Given the description of an element on the screen output the (x, y) to click on. 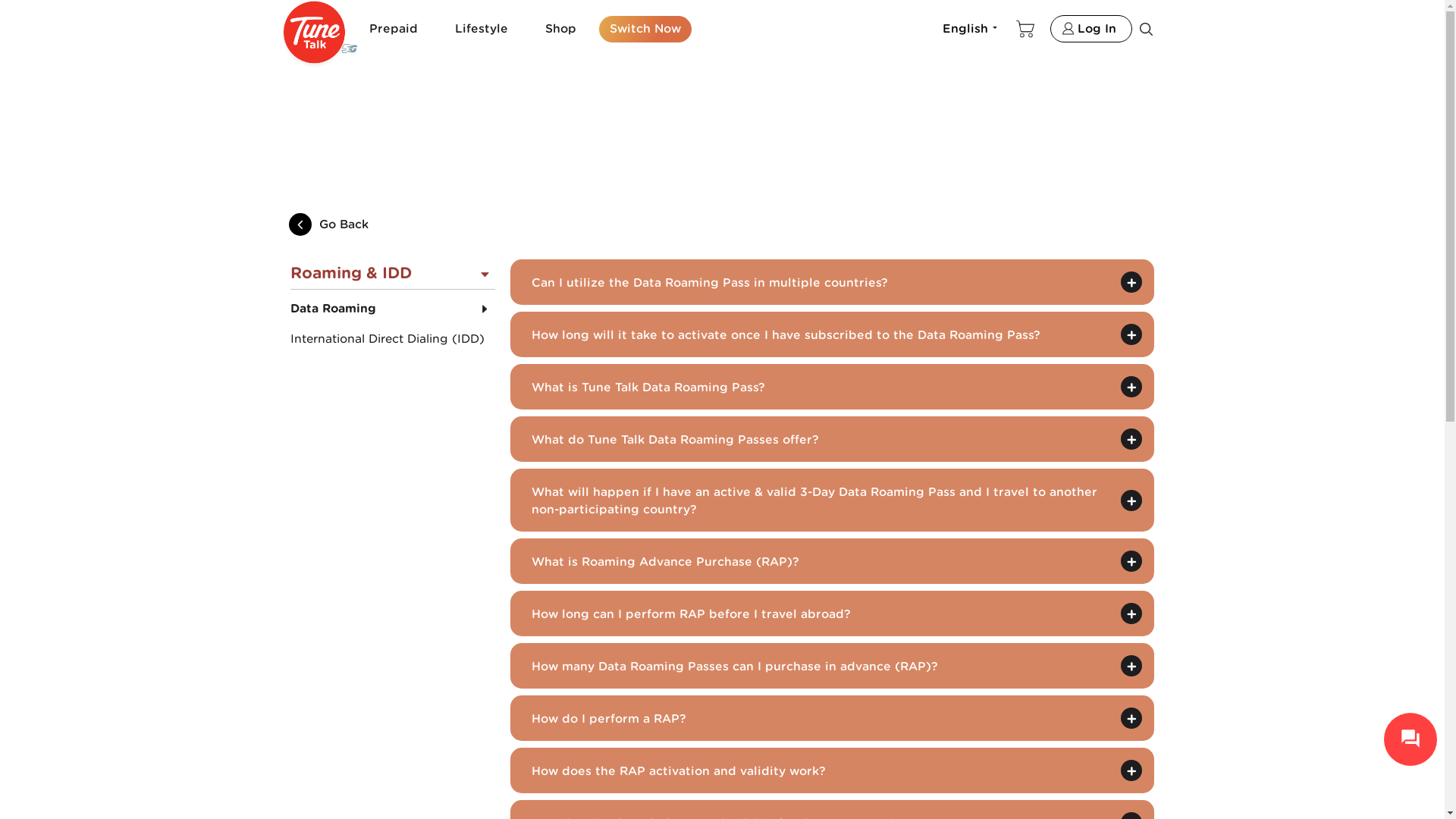
Lifestyle (486, 28)
Prepaid (399, 28)
